Given the description of an element on the screen output the (x, y) to click on. 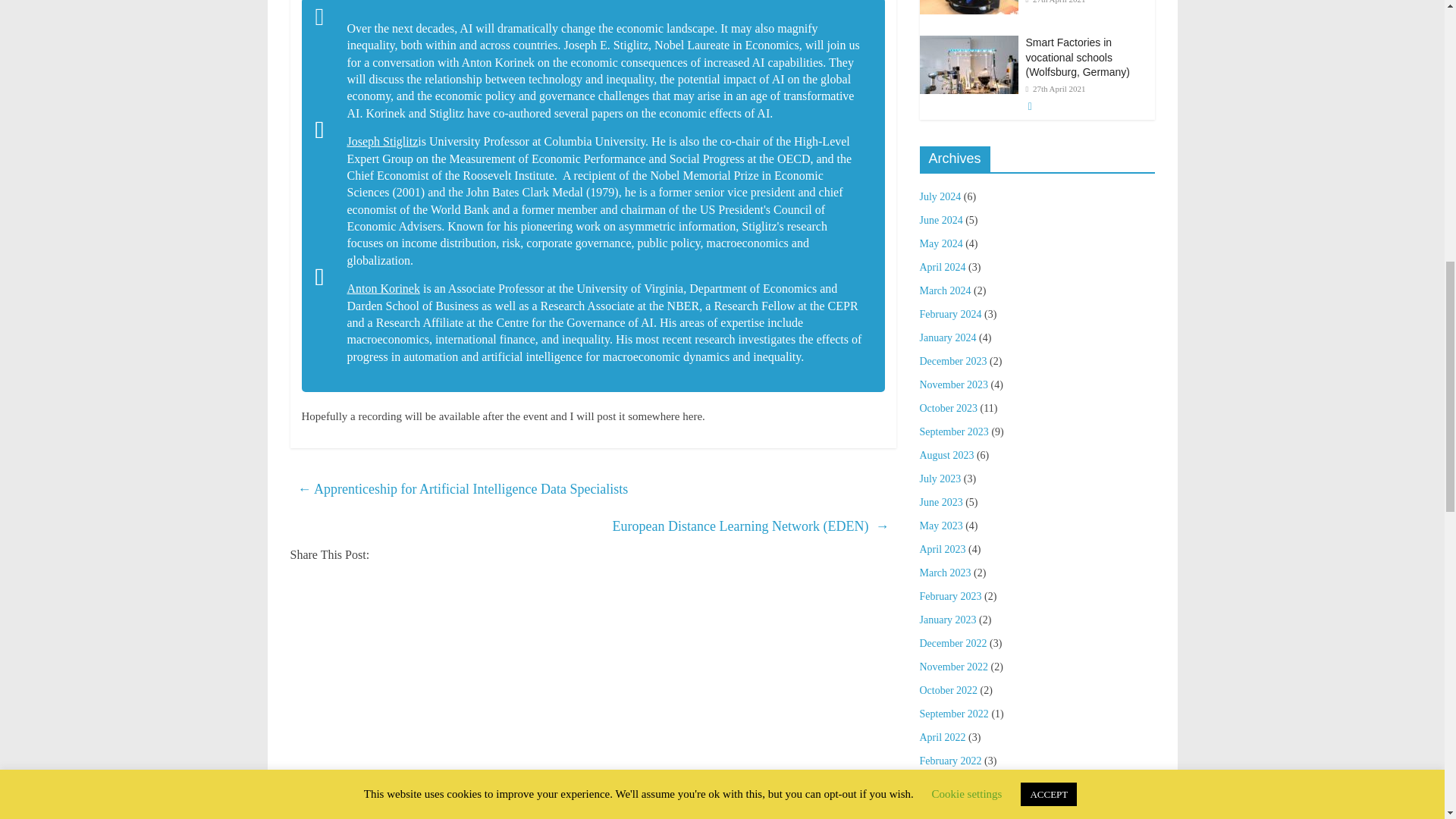
Joseph Stiglitz (383, 141)
Anton Korinek (383, 287)
